Given the description of an element on the screen output the (x, y) to click on. 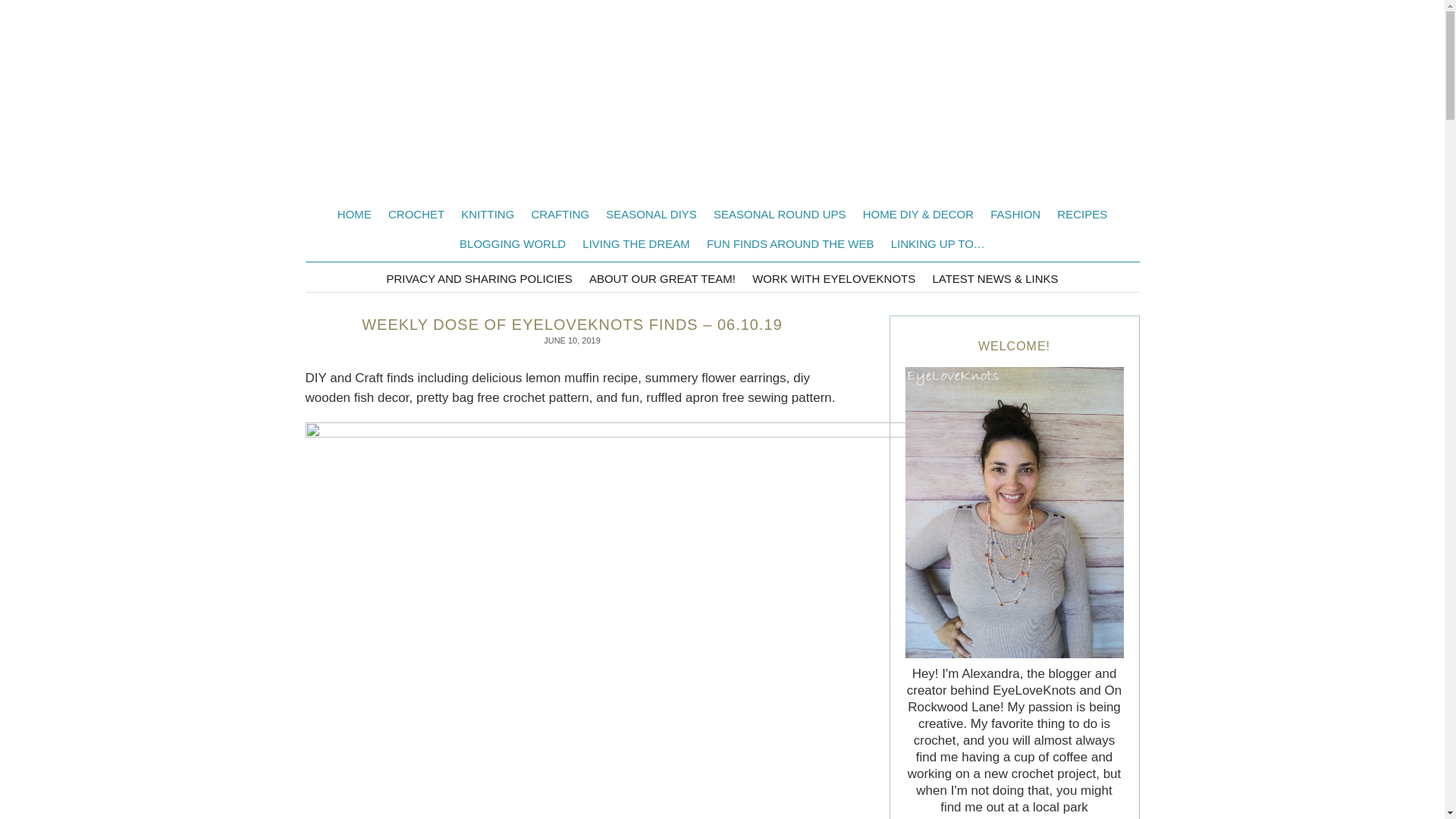
SEASONAL ROUND UPS (779, 213)
SEASONAL DIYS (650, 213)
CROCHET (416, 213)
KNITTING (487, 213)
HOME (354, 213)
EYELOVEKNOTS (722, 106)
CRAFTING (560, 213)
